Given the description of an element on the screen output the (x, y) to click on. 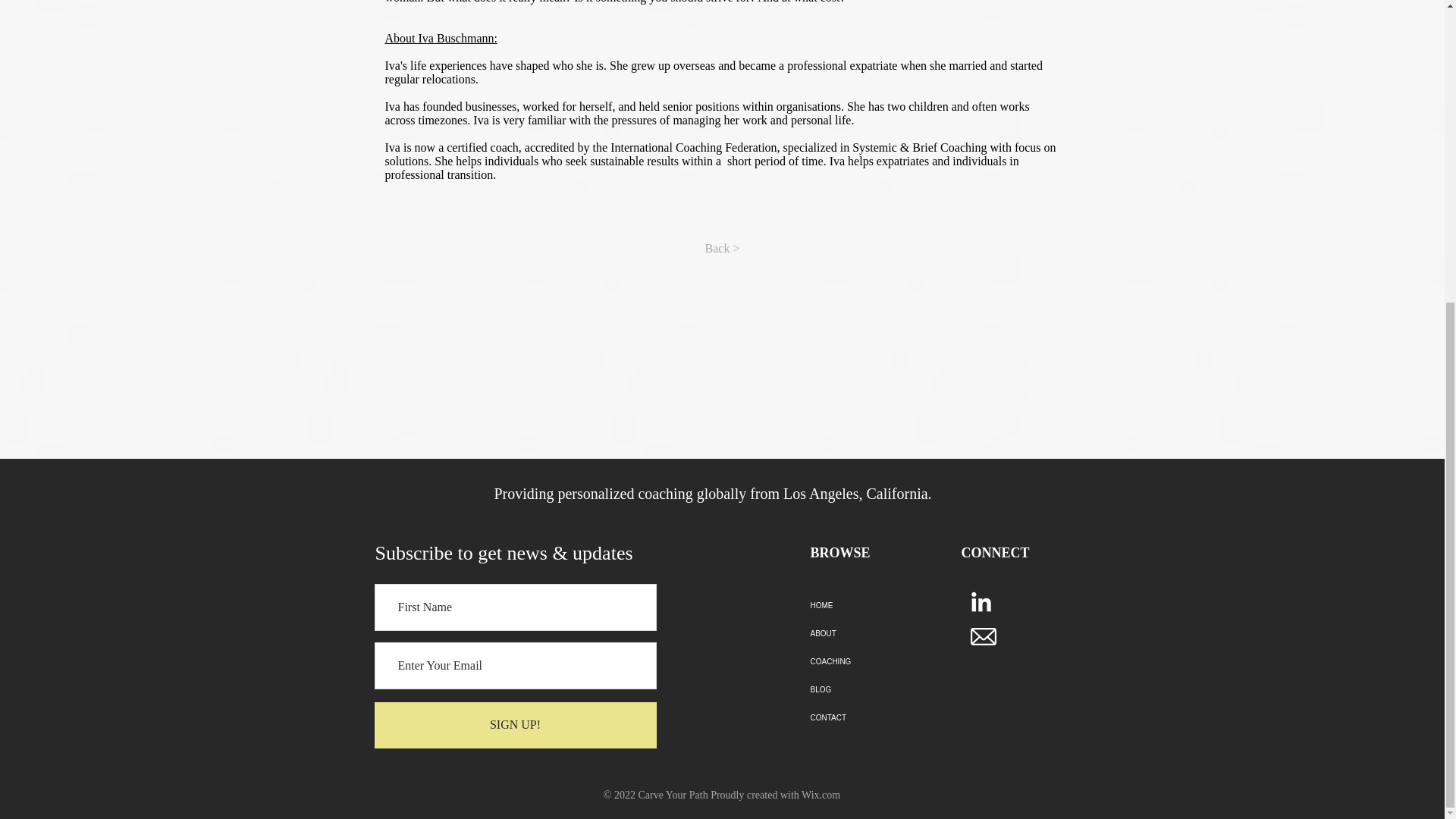
SIGN UP! (515, 724)
CONTACT (863, 717)
COACHING (863, 661)
ABOUT (863, 633)
BLOG (863, 689)
Wix.com (821, 794)
HOME (863, 605)
